Given the description of an element on the screen output the (x, y) to click on. 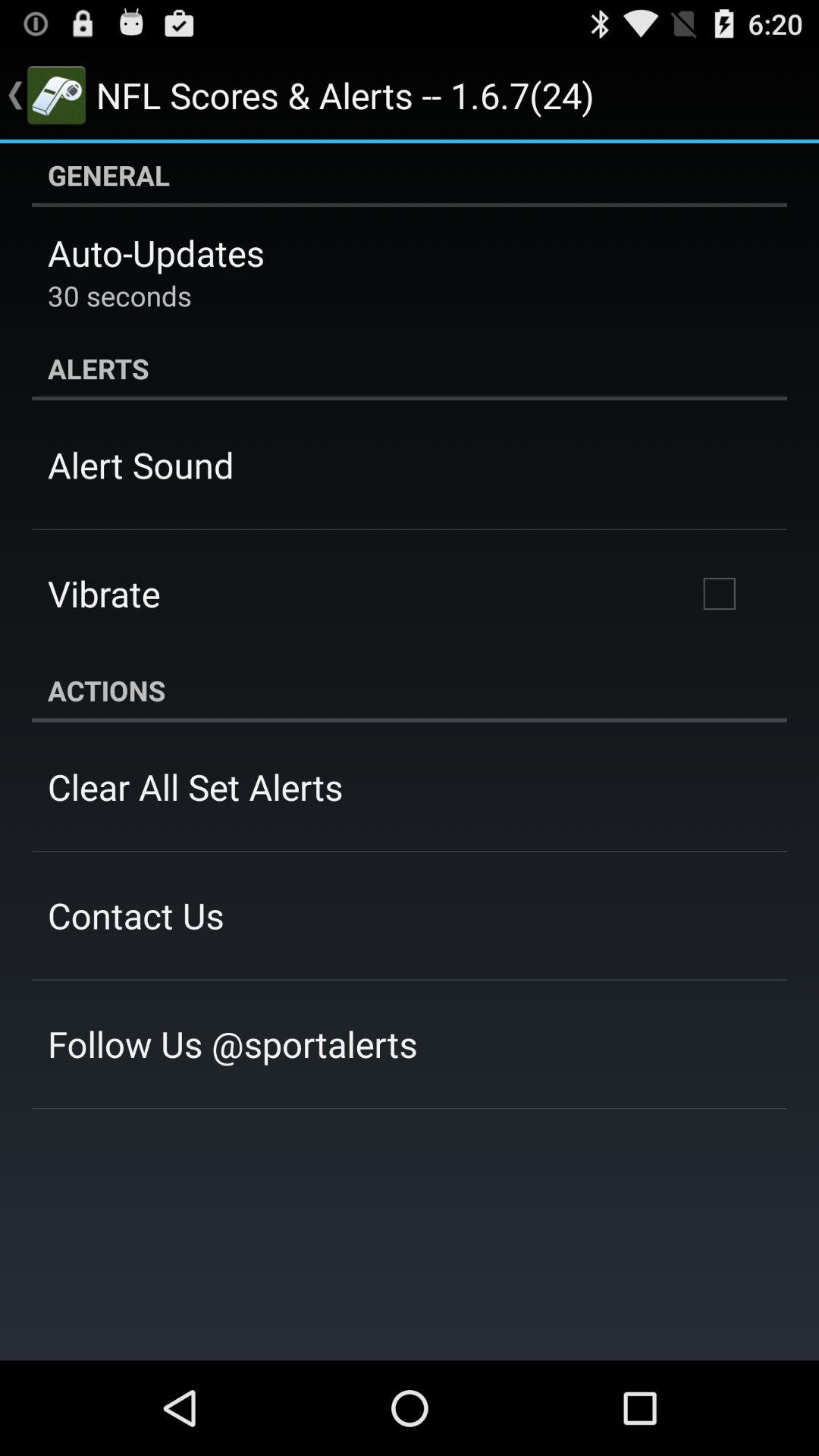
swipe to the alert sound (140, 464)
